Given the description of an element on the screen output the (x, y) to click on. 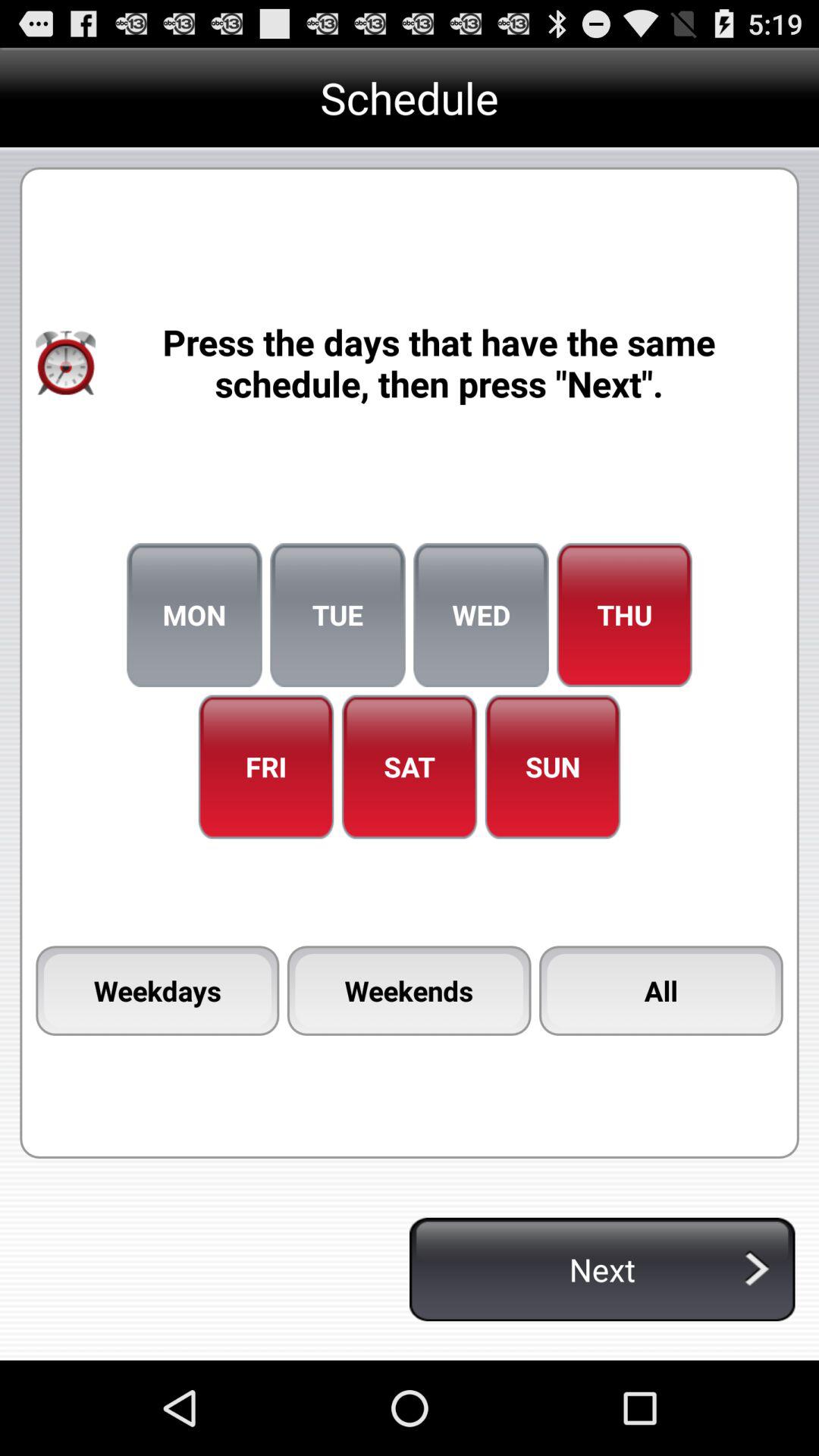
choose item to the left of the wed item (337, 615)
